Given the description of an element on the screen output the (x, y) to click on. 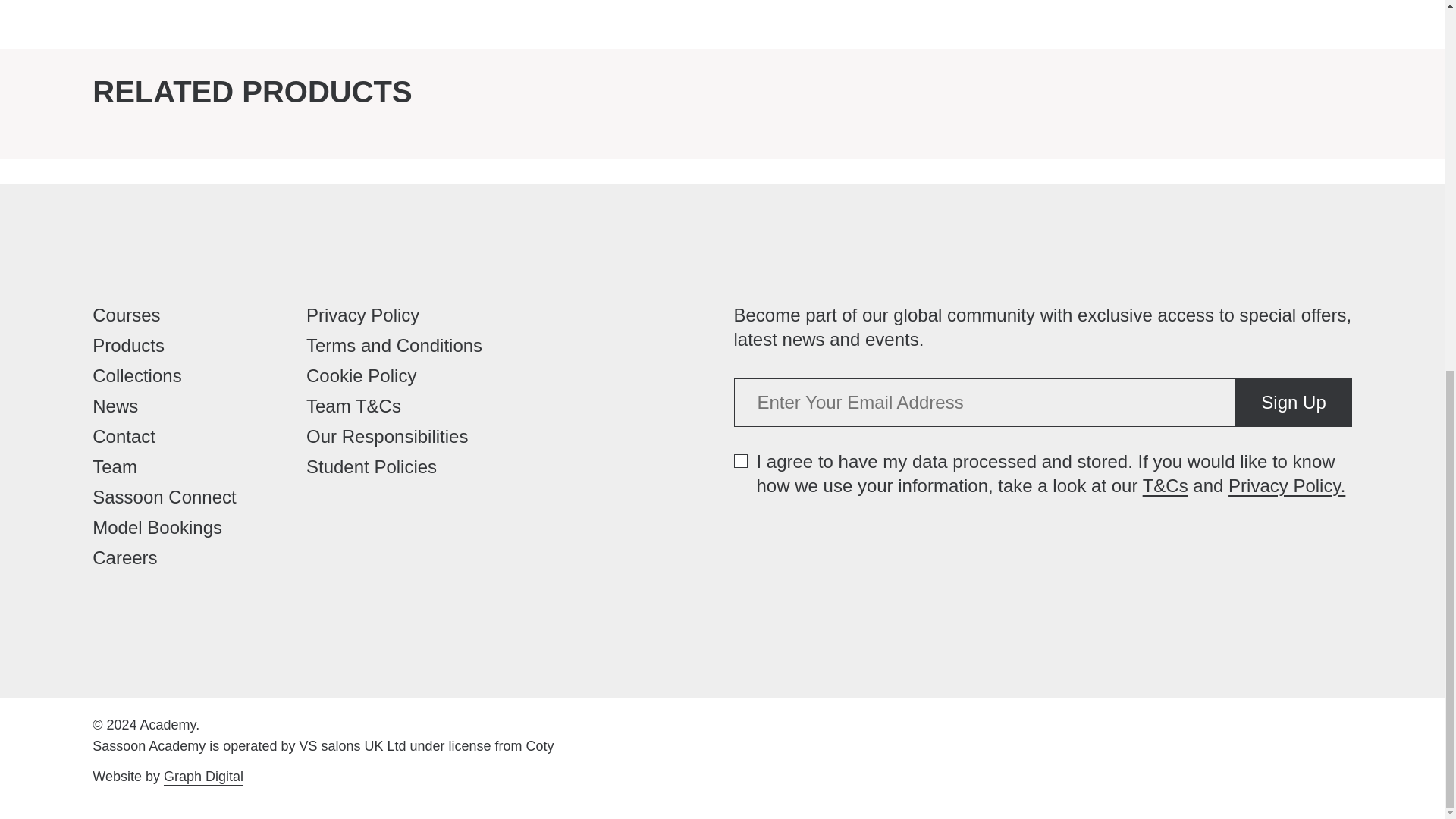
true (740, 460)
